Given the description of an element on the screen output the (x, y) to click on. 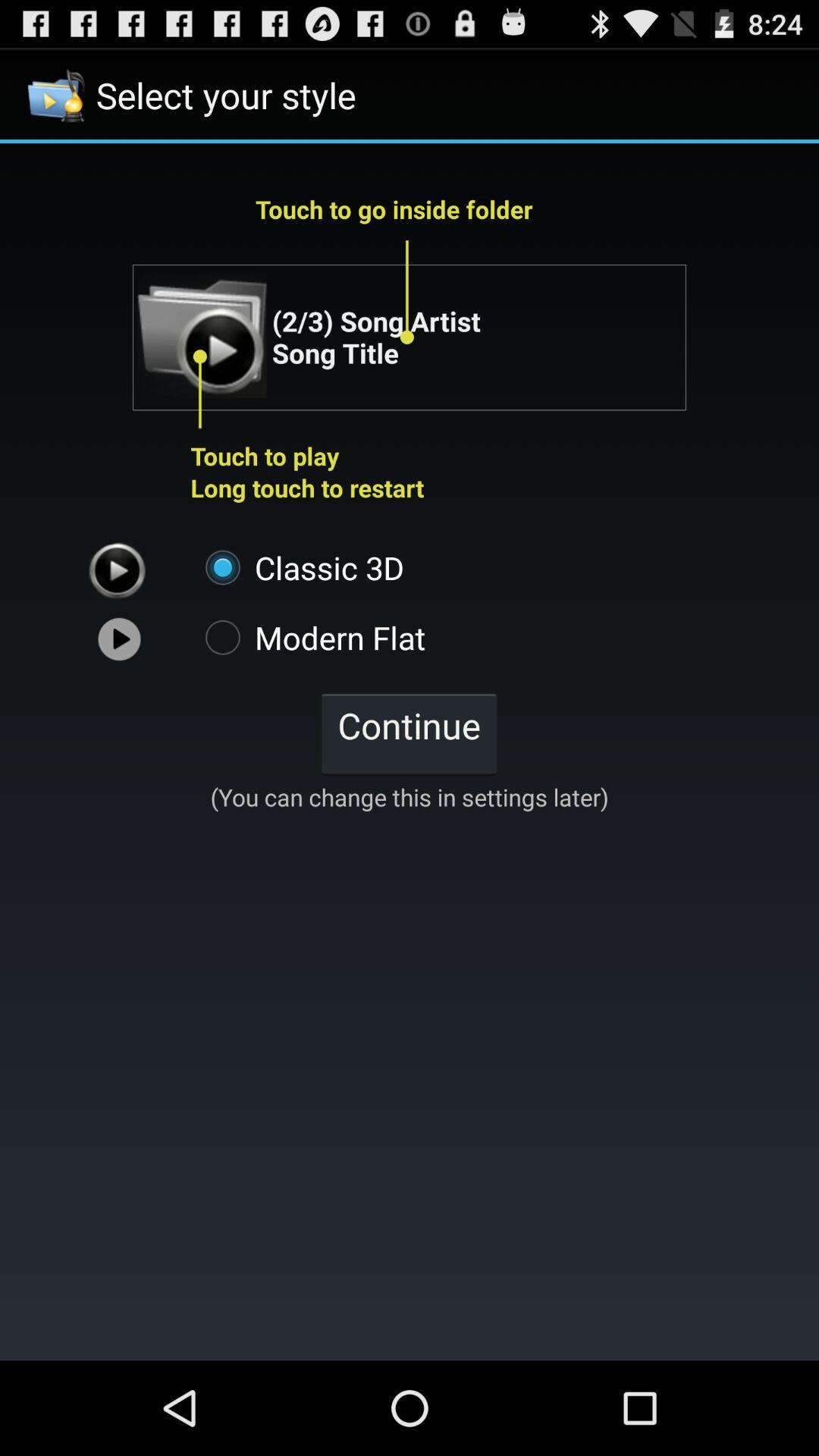
launch classic 3d (297, 567)
